Given the description of an element on the screen output the (x, y) to click on. 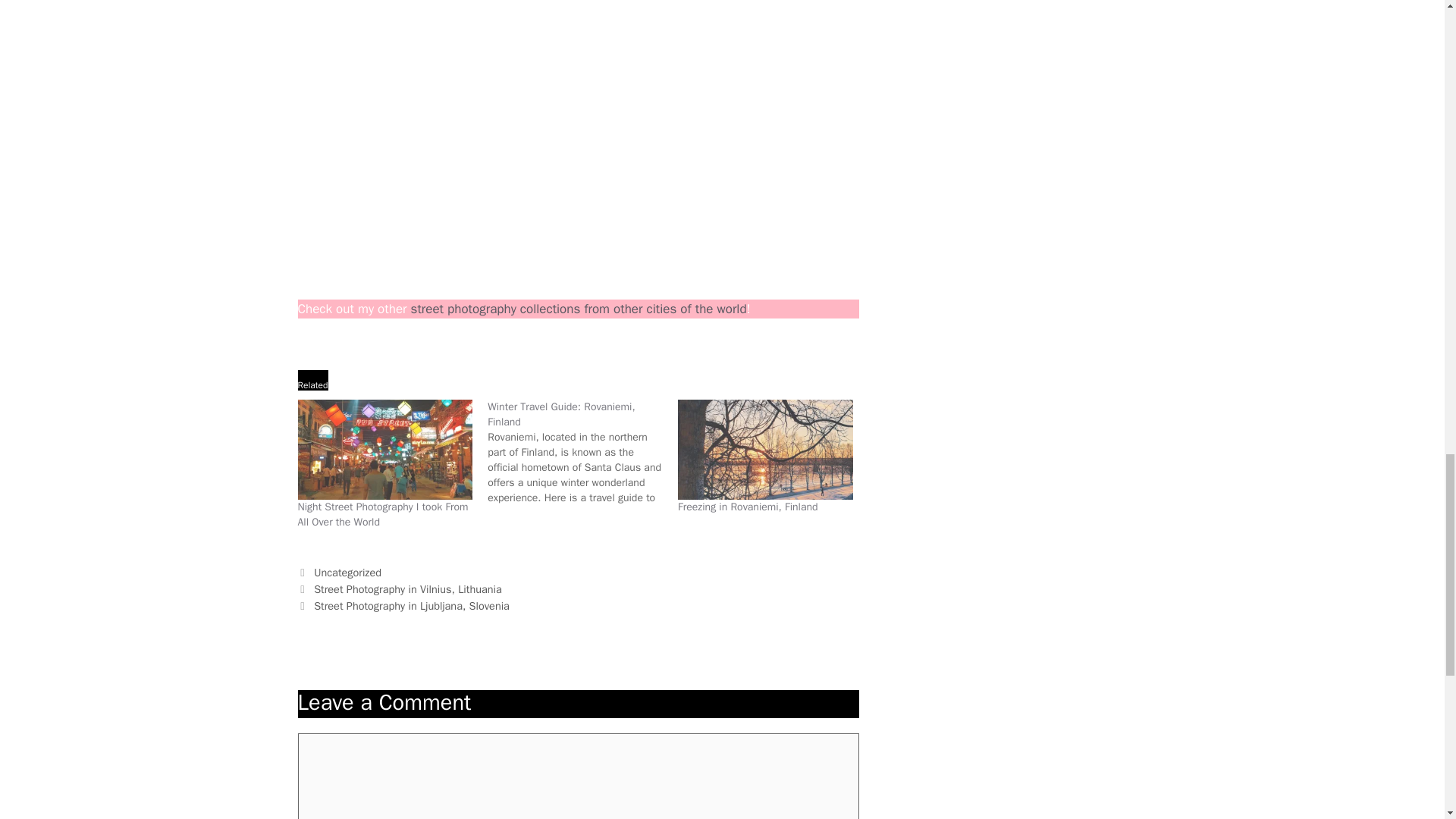
Uncategorized (347, 572)
Winter Travel Guide: Rovaniemi, Finland (582, 452)
Street Photography in Vilnius, Lithuania (408, 589)
Night Street Photography I took From All Over the World (382, 514)
Night Street Photography I took From All Over the World (384, 449)
Winter Travel Guide: Rovaniemi, Finland (560, 414)
Street Photography in Ljubljana, Slovenia (411, 605)
Winter Travel Guide: Rovaniemi, Finland (560, 414)
Night Street Photography I took From All Over the World (382, 514)
